Given the description of an element on the screen output the (x, y) to click on. 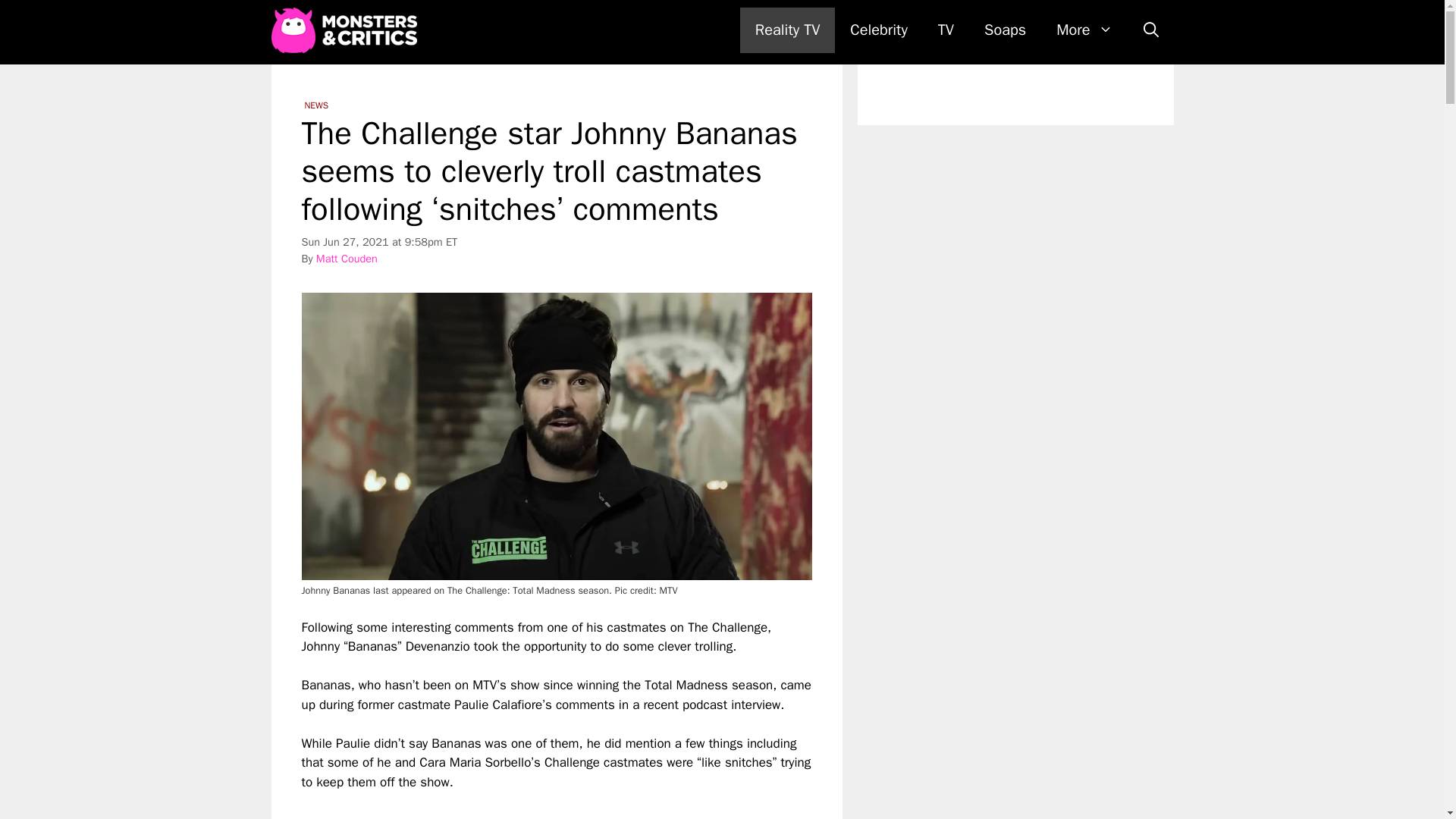
Matt Couden (346, 258)
Monsters and Critics (343, 30)
TV (946, 30)
Monsters and Critics (347, 30)
More (1083, 30)
Celebrity (877, 30)
Soaps (1005, 30)
View all posts by Matt Couden (346, 258)
Reality TV (787, 30)
YouTube video player (513, 805)
